Given the description of an element on the screen output the (x, y) to click on. 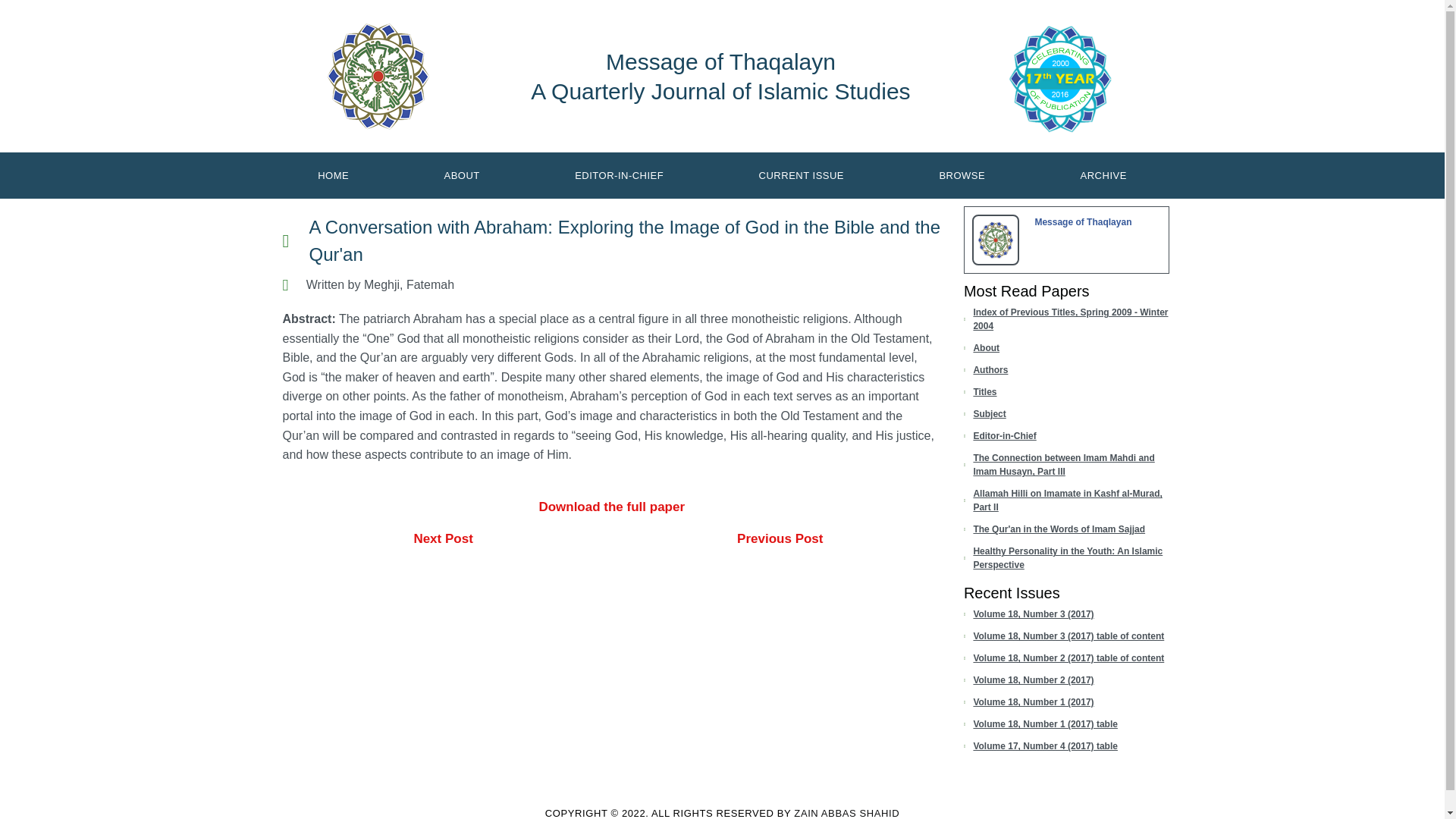
CURRENT ISSUE (801, 174)
HOME (333, 174)
ARCHIVE (1103, 174)
3502af43c5ee99cb3b9889fa6641540762fcce75.00001251 (996, 239)
ABOUT (461, 174)
EDITOR-IN-CHIEF (619, 174)
BROWSE (961, 174)
